Given the description of an element on the screen output the (x, y) to click on. 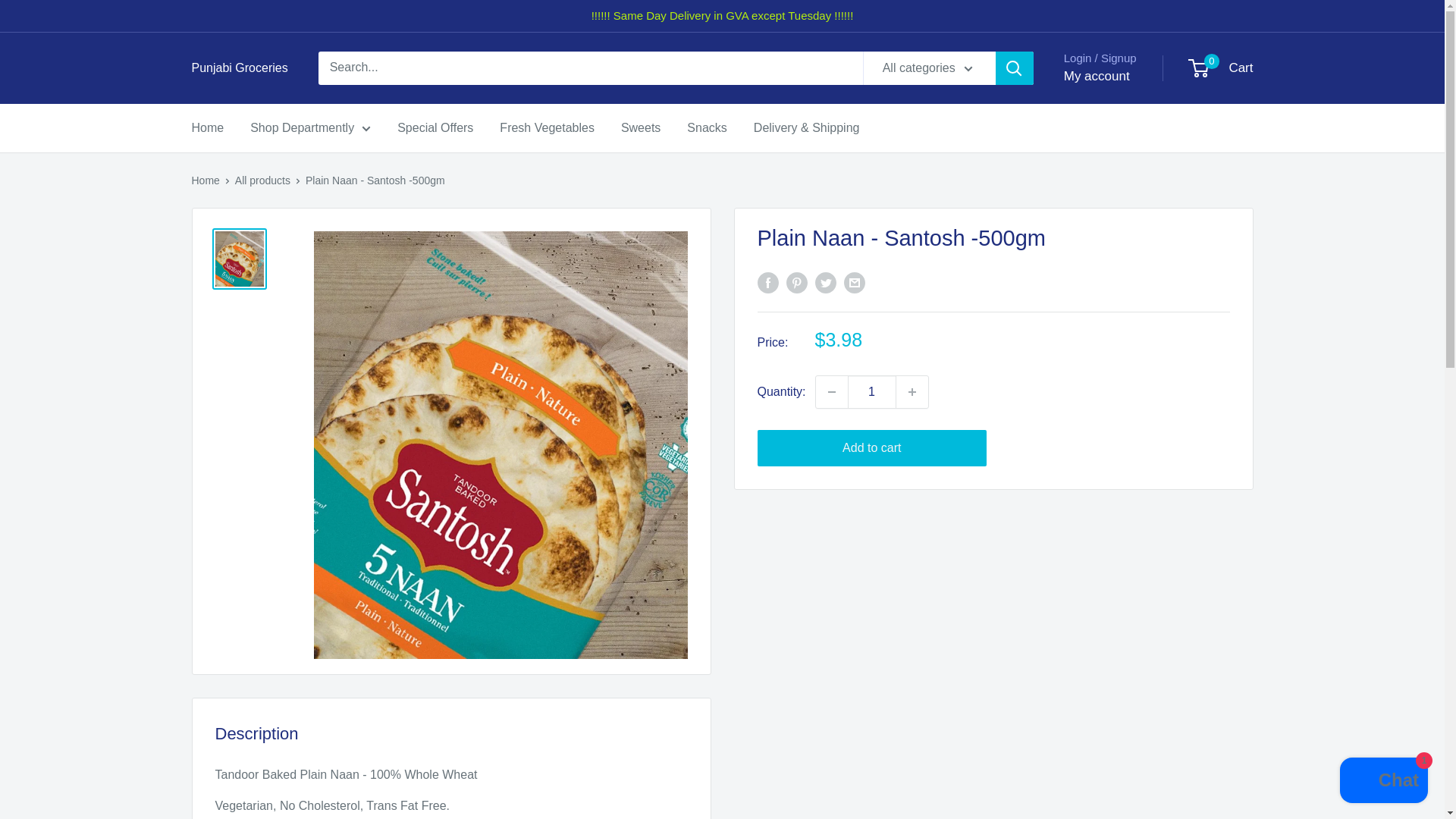
Increase quantity by 1 (912, 391)
1 (871, 391)
Shopify online store chat (1383, 781)
Decrease quantity by 1 (831, 391)
!!!!!! Same Day Delivery in GVA except Tuesday !!!!!! (722, 15)
